Given the description of an element on the screen output the (x, y) to click on. 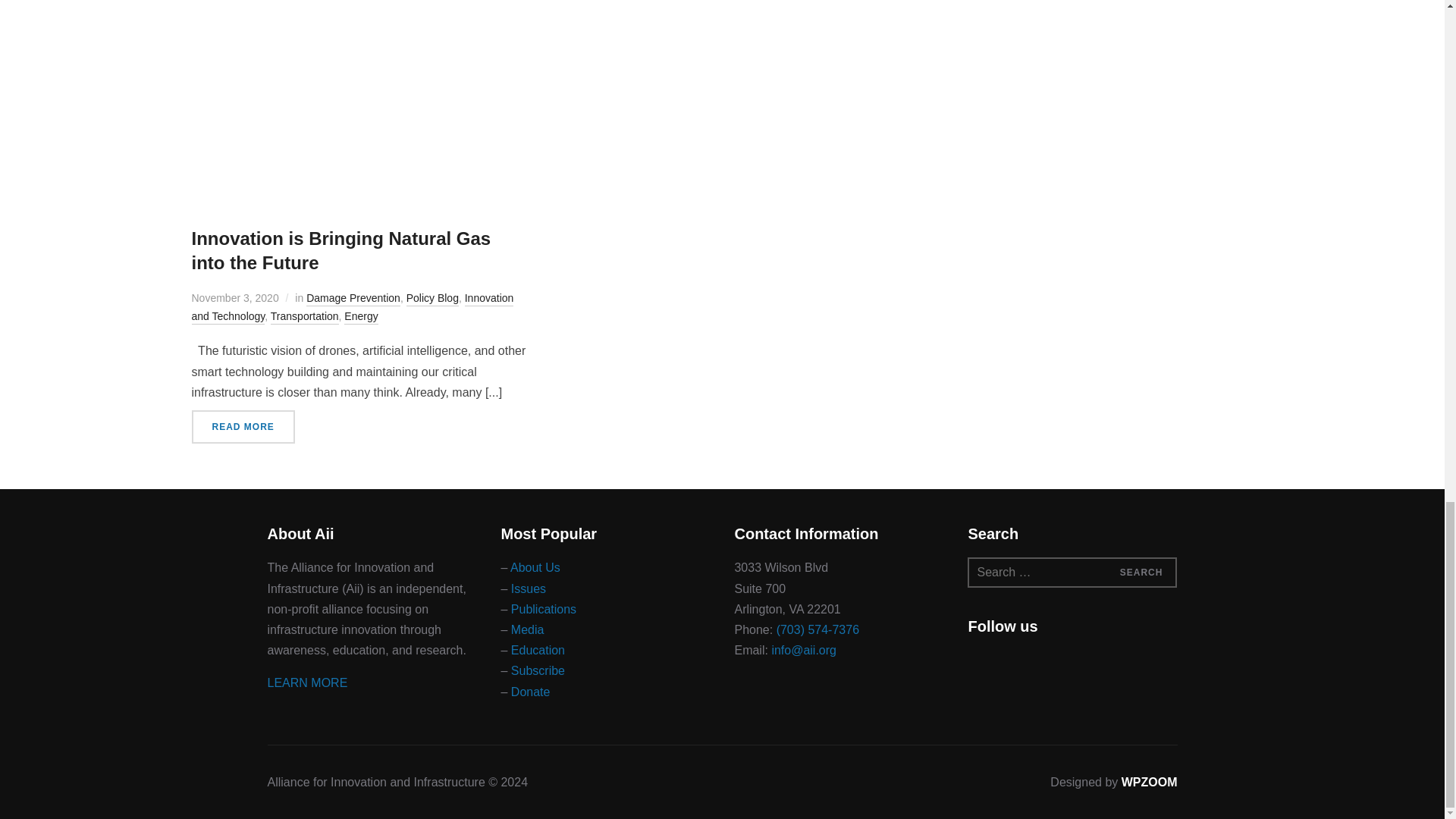
Search (1141, 572)
Search (1141, 572)
